Given the description of an element on the screen output the (x, y) to click on. 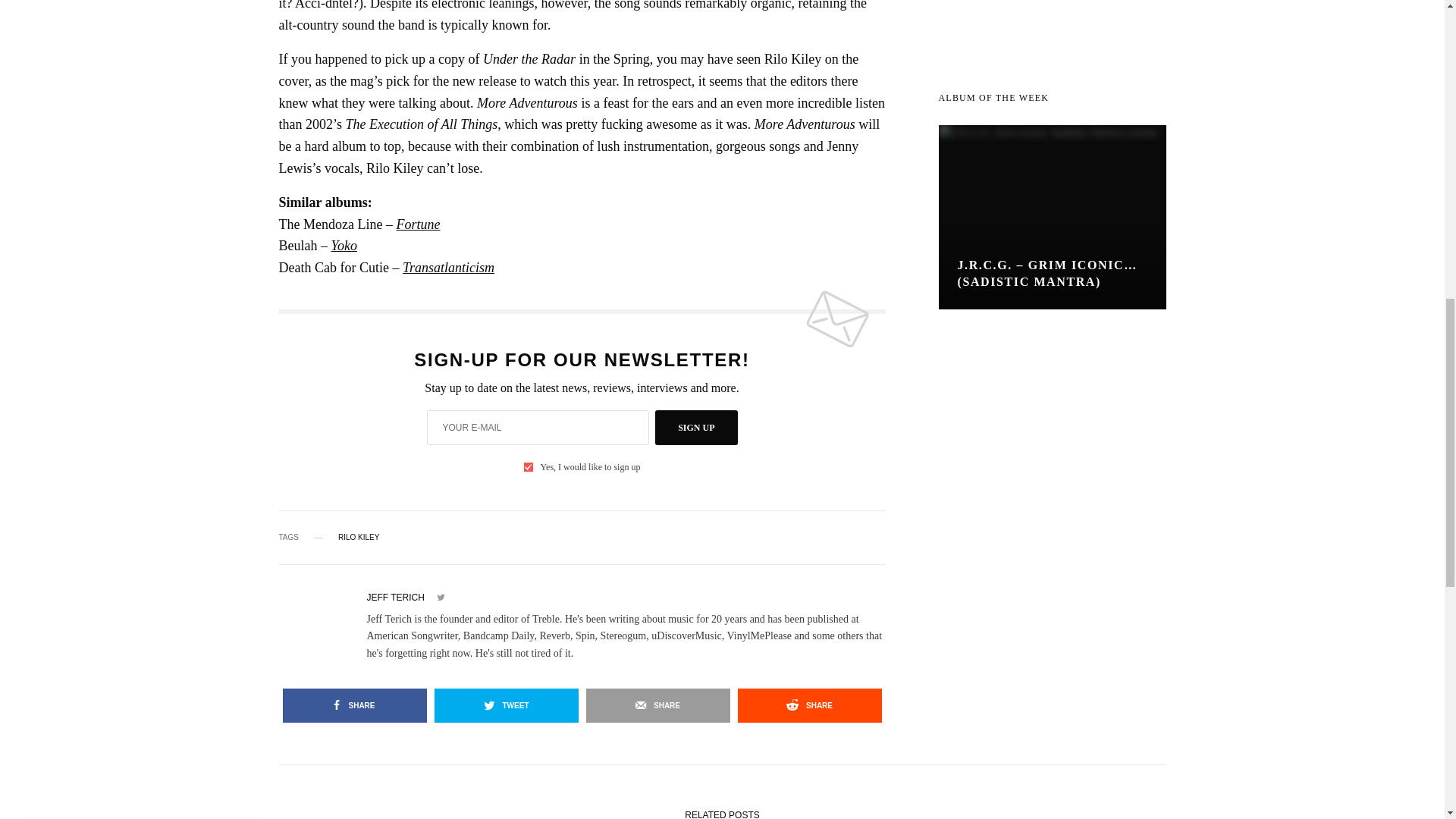
SIGN UP (695, 427)
JEFF TERICH (395, 596)
RILO KILEY (357, 537)
Yoko (343, 245)
Fortune (418, 224)
Transatlanticism (449, 267)
